Given the description of an element on the screen output the (x, y) to click on. 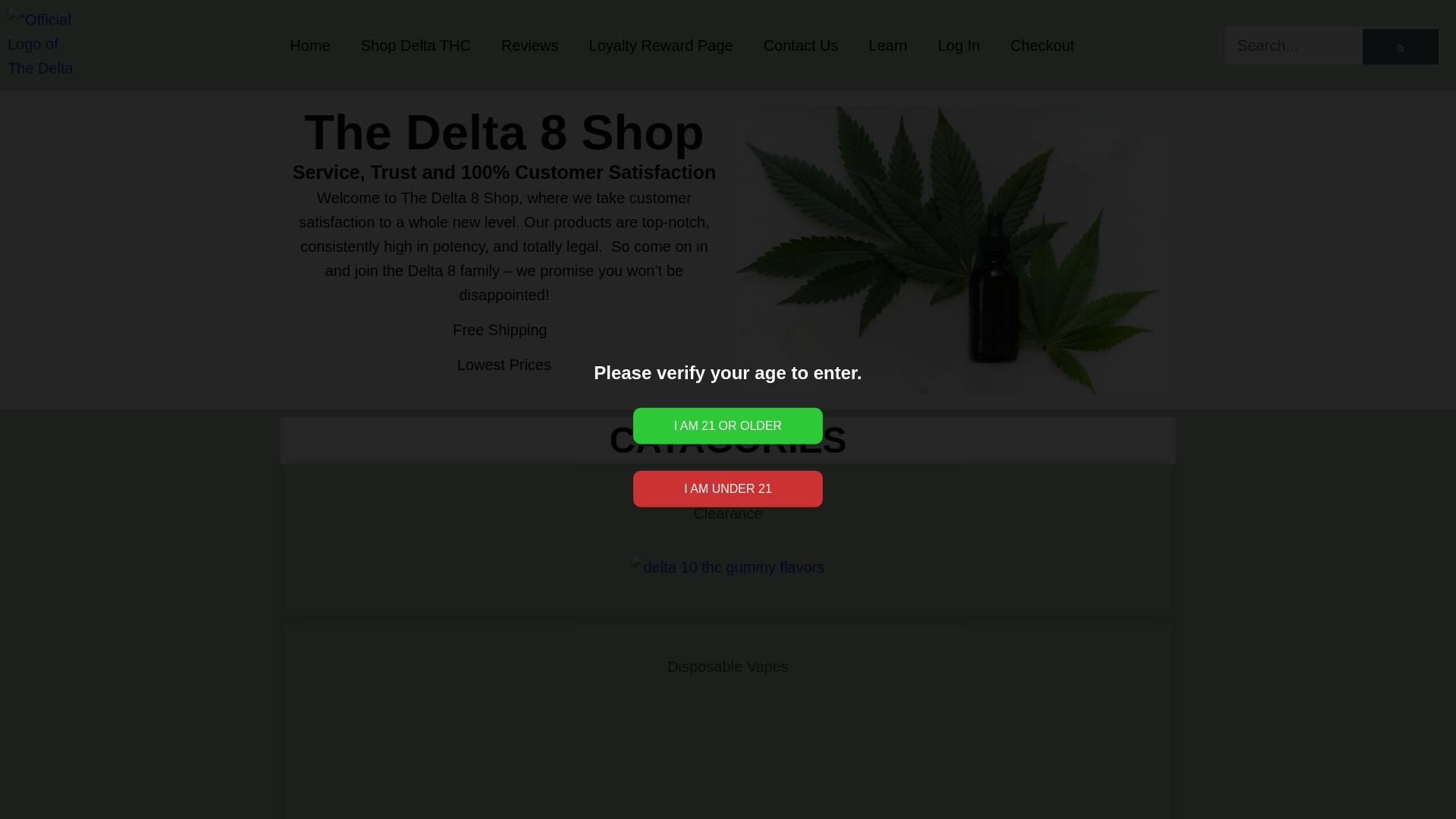
Learn (888, 45)
I am under 21 (727, 488)
Loyalty Reward Page (660, 45)
Log In (959, 45)
Home (310, 45)
Contact Us (800, 45)
Reviews (529, 45)
Clearance (727, 513)
I am 21 or older (727, 425)
Checkout (1041, 45)
